Given the description of an element on the screen output the (x, y) to click on. 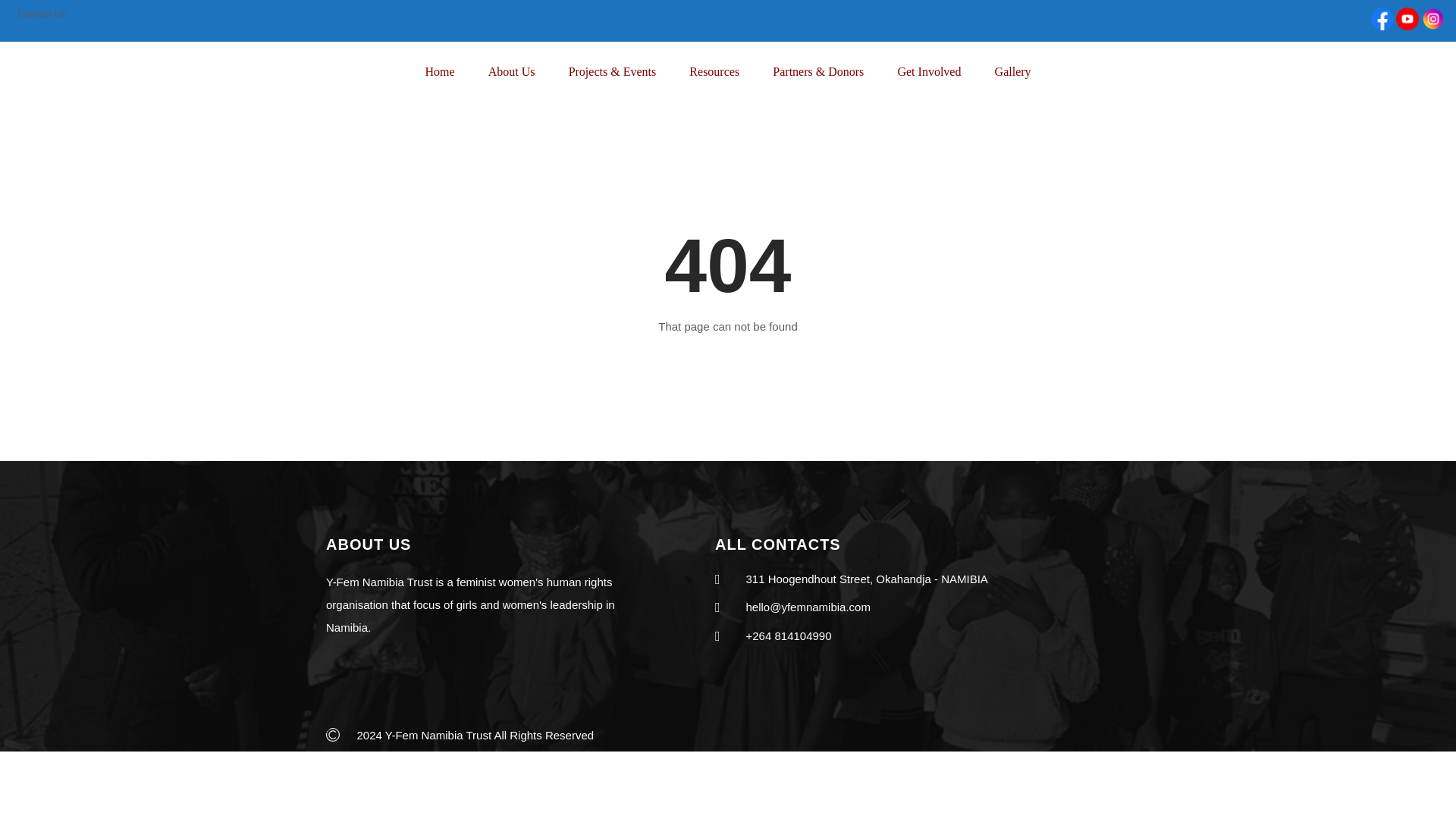
Resources (713, 71)
About Us (511, 71)
Get Involved (928, 71)
Gallery (1012, 71)
Home (439, 71)
Contact Us (38, 13)
2024 Y-Fem Namibia Trust All Rights Reserved (460, 735)
